Given the description of an element on the screen output the (x, y) to click on. 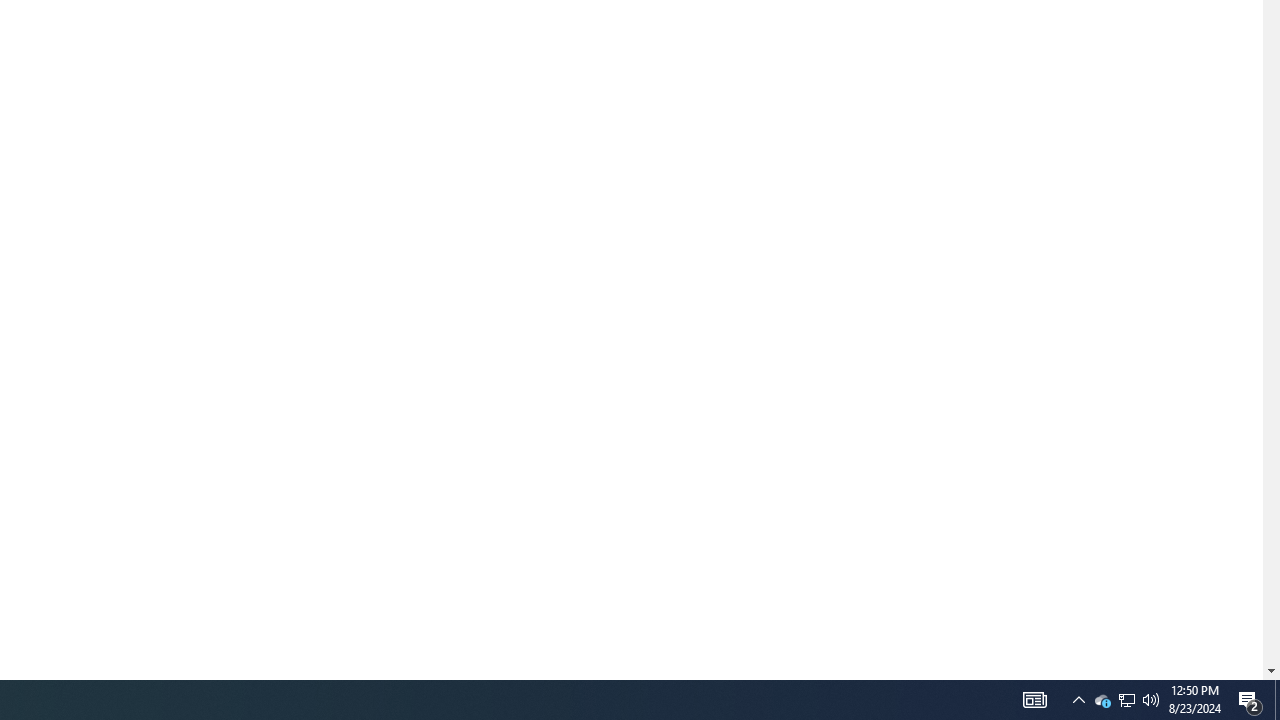
Q2790: 100% (1126, 699)
Action Center, 2 new notifications (1151, 699)
Notification Chevron (1250, 699)
AutomationID: 4105 (1102, 699)
User Promoted Notification Area (1078, 699)
Show desktop (1034, 699)
